Given the description of an element on the screen output the (x, y) to click on. 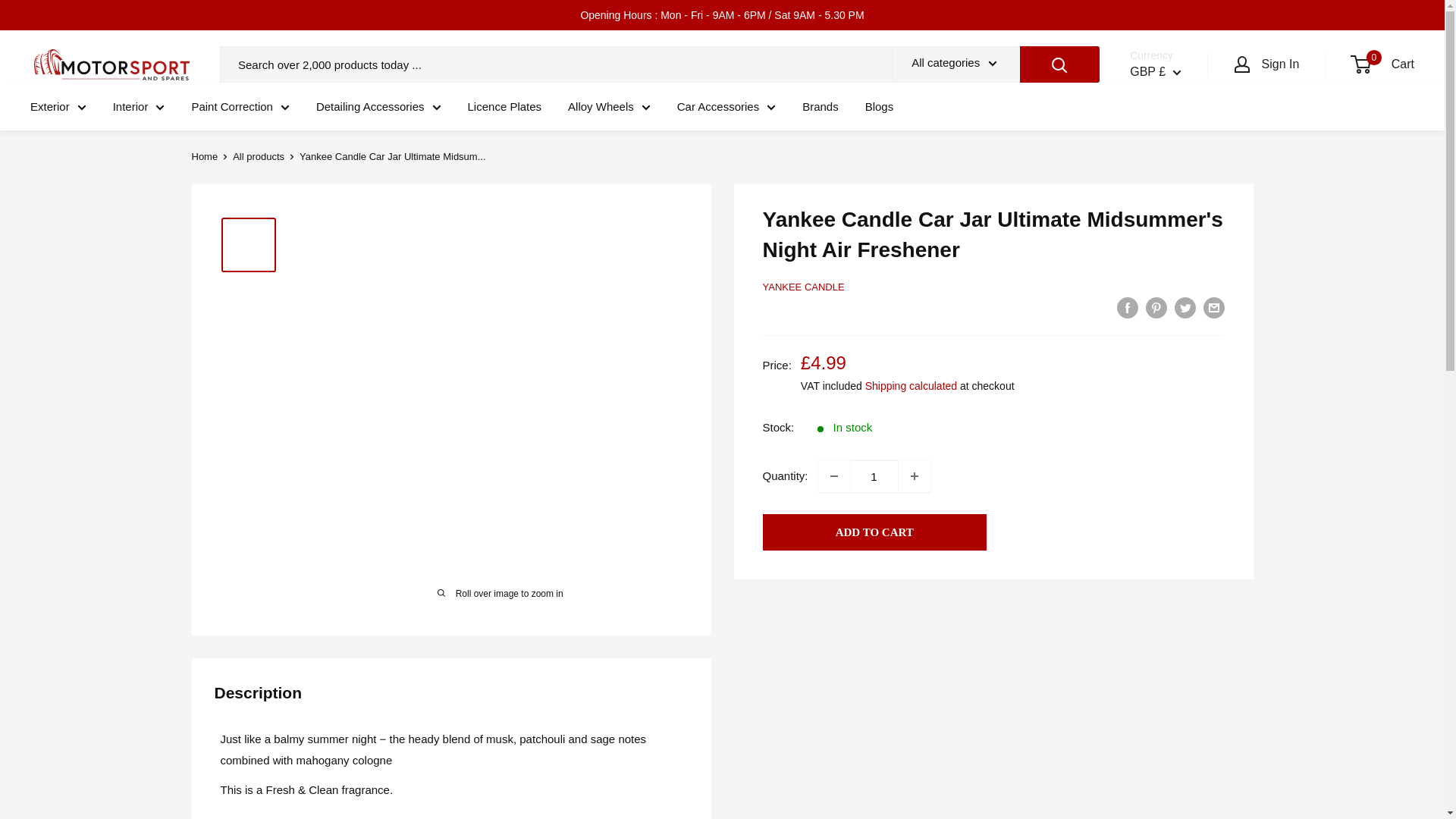
Increase quantity by 1 (914, 476)
Decrease quantity by 1 (834, 476)
1 (874, 476)
